Given the description of an element on the screen output the (x, y) to click on. 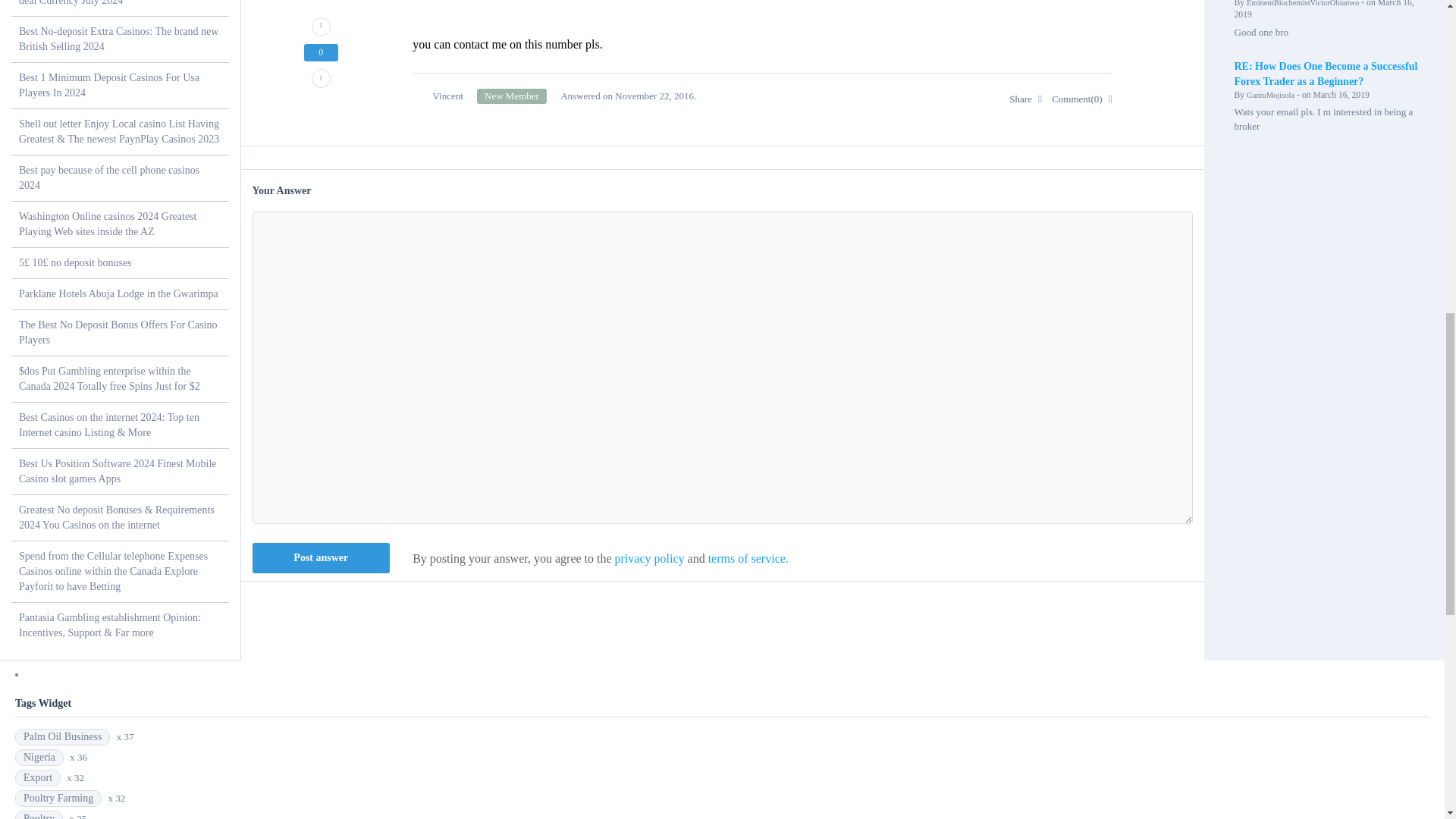
This is not useful (320, 77)
5 (512, 96)
This is useful. (320, 26)
